Given the description of an element on the screen output the (x, y) to click on. 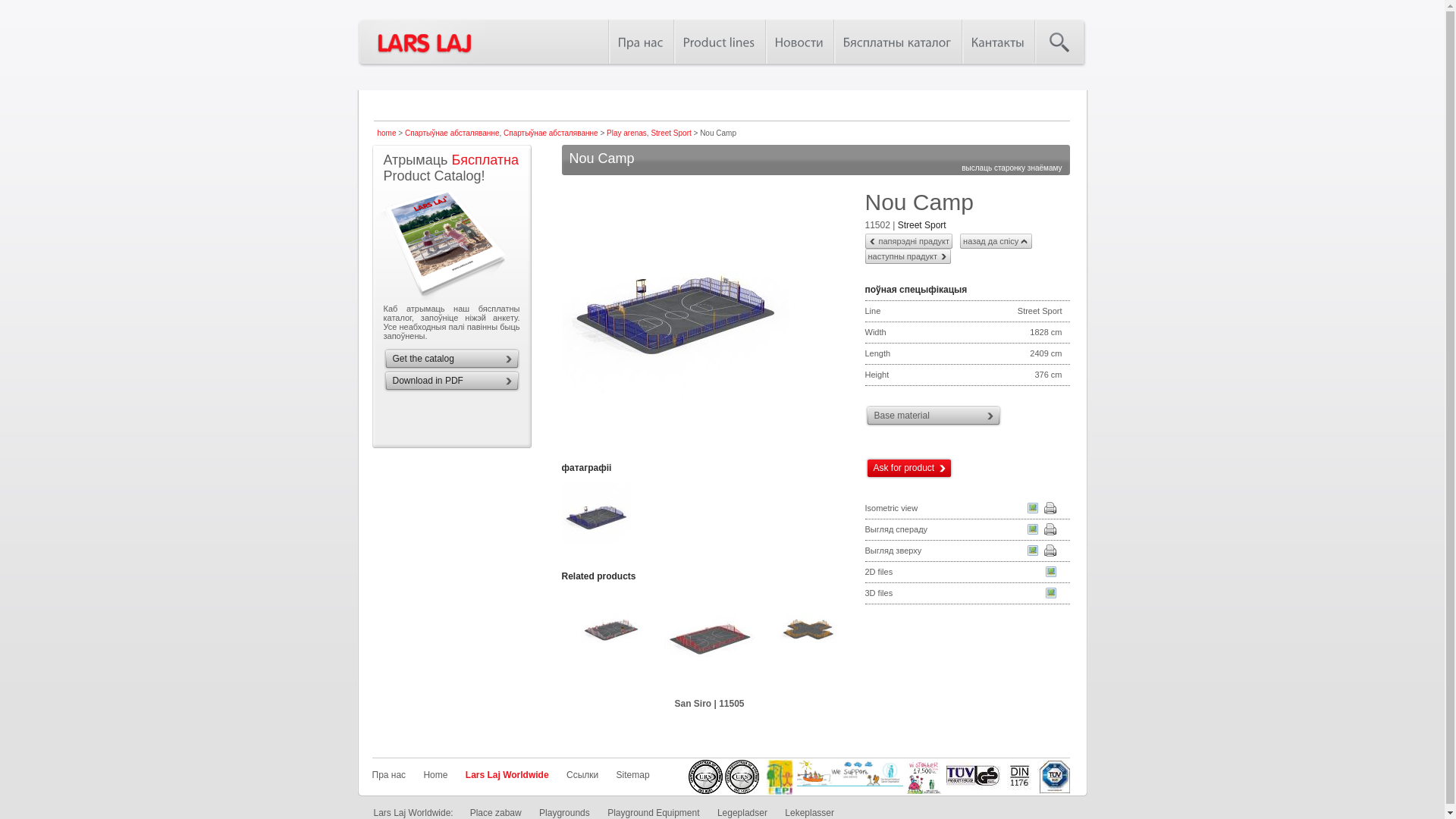
Maracana | 11510 Element type: hover (807, 639)
Download in PDF Element type: text (456, 381)
Street Sport Element type: text (670, 132)
Product lines Element type: hover (719, 41)
Shea | 11503 Element type: hover (511, 639)
ISO 14001 Element type: hover (741, 776)
Play arenas Element type: text (626, 132)
Parc de Prince | 11504 Element type: hover (610, 639)
Get the catalog Element type: text (456, 359)
Place zabaw Element type: text (495, 812)
home Element type: text (386, 132)
San Siro | 11505 Element type: hover (708, 639)
ISO 9001 Element type: hover (705, 776)
Ask for product Element type: text (911, 468)
Sitemap Element type: text (632, 774)
Lars Laj Worldwide Element type: text (507, 774)
Nou Camp (2) Element type: hover (596, 549)
Street Sport Element type: text (921, 224)
Legepladser Element type: text (742, 812)
Lekeplasser Element type: text (809, 812)
Playground Equipment Element type: text (653, 812)
Playgrounds Element type: text (564, 812)
Home Element type: text (435, 774)
